Given the description of an element on the screen output the (x, y) to click on. 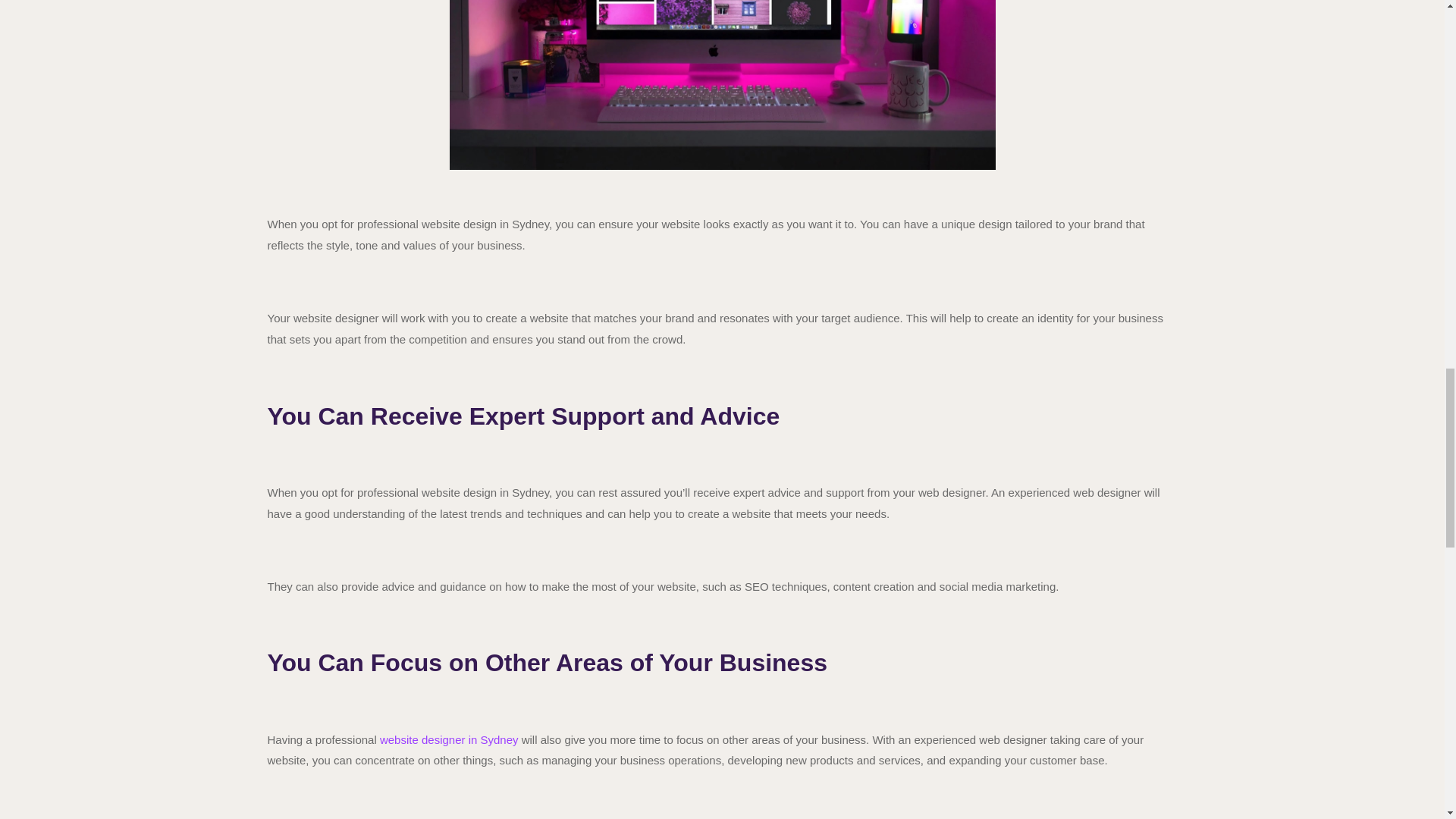
website designer in Sydney (449, 739)
